Given the description of an element on the screen output the (x, y) to click on. 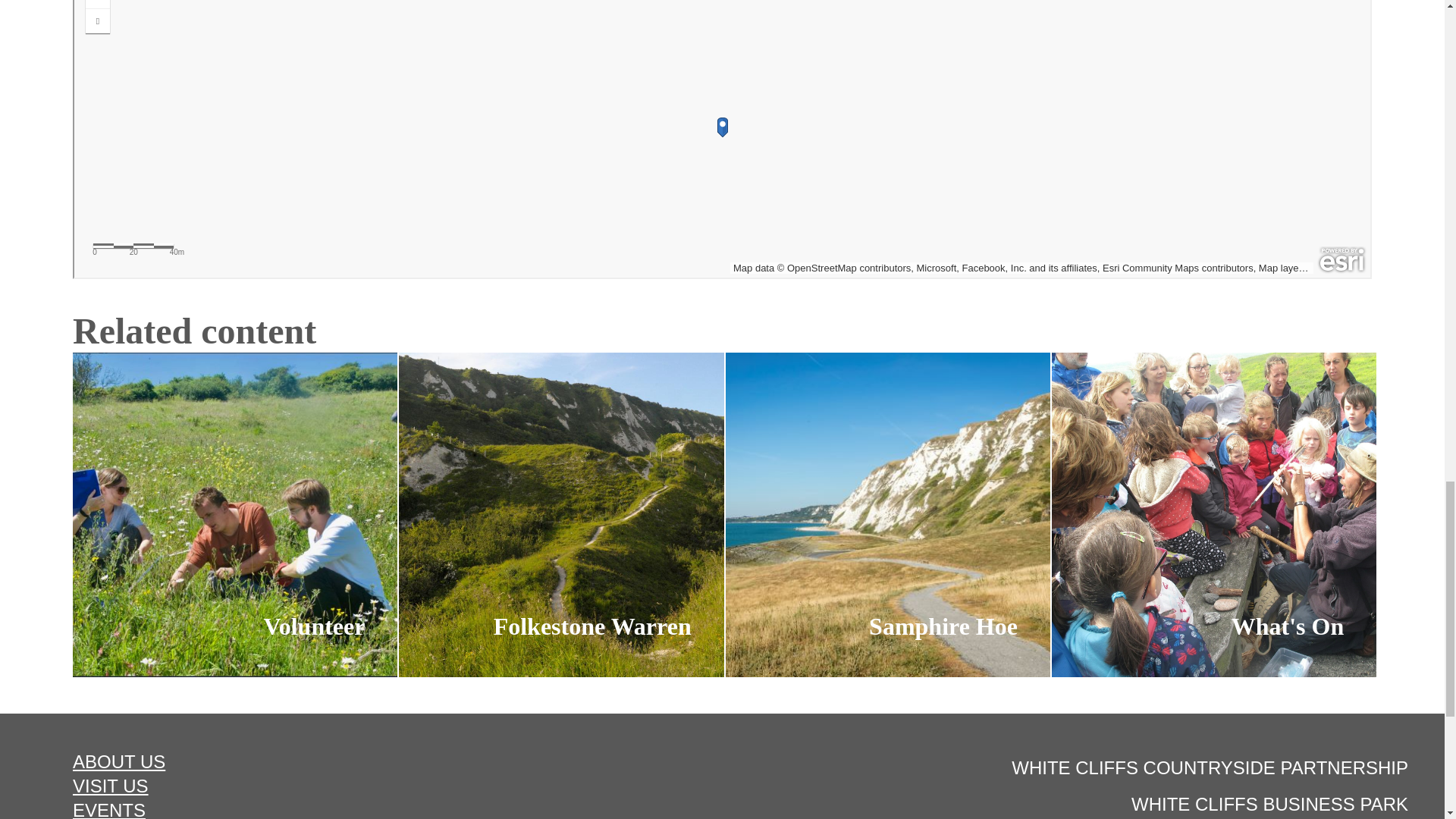
Samphire Hoe (887, 514)
Volunteer (234, 514)
Folkestone Warren (560, 514)
What's On (1213, 514)
